Given the description of an element on the screen output the (x, y) to click on. 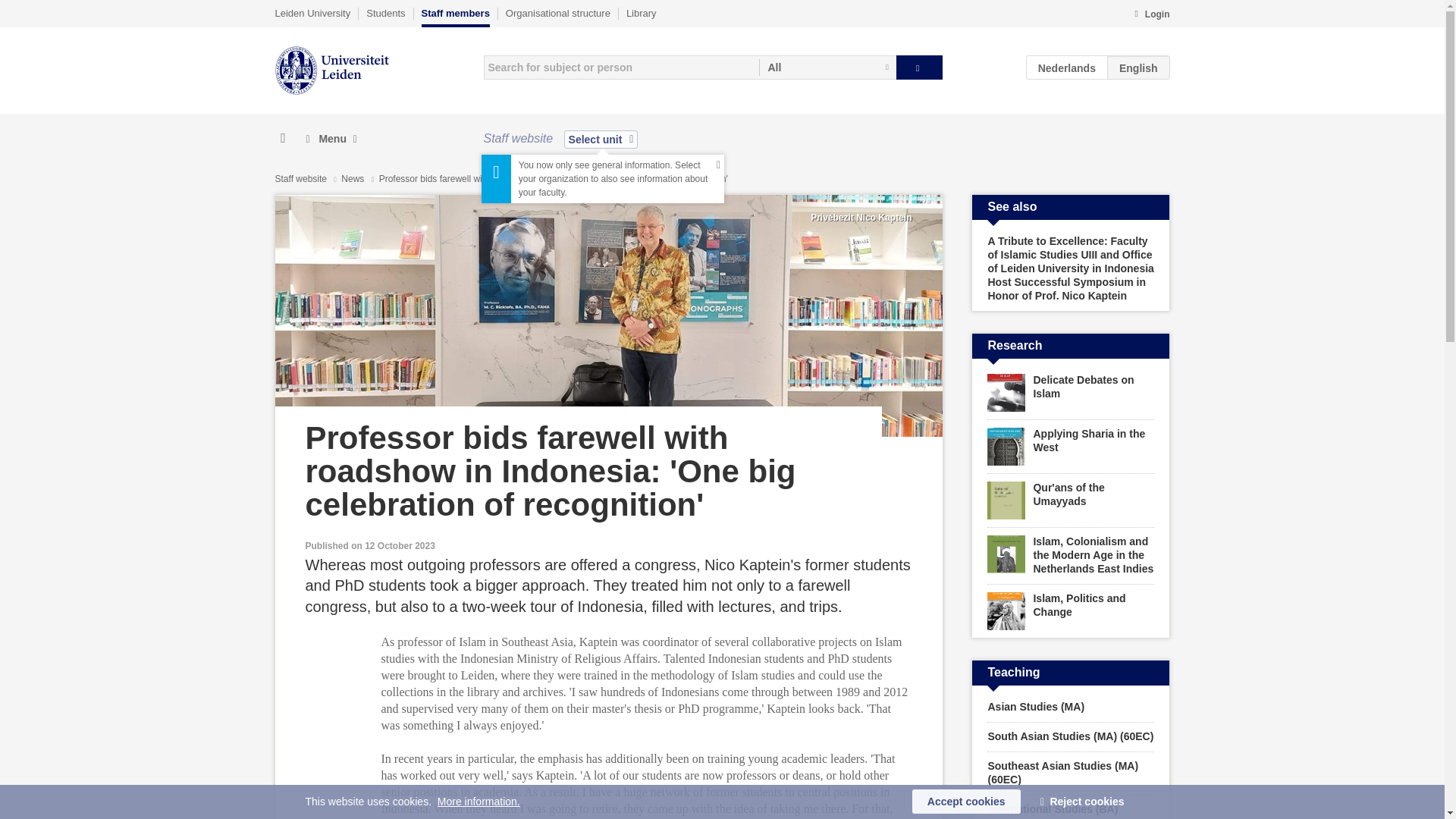
NL (1067, 67)
Students (385, 13)
Search (919, 67)
Menu (330, 139)
Staff members (455, 17)
Leiden University (312, 13)
Select unit (601, 139)
Library (641, 13)
Organisational structure (557, 13)
Login (1151, 14)
All (827, 67)
